Given the description of an element on the screen output the (x, y) to click on. 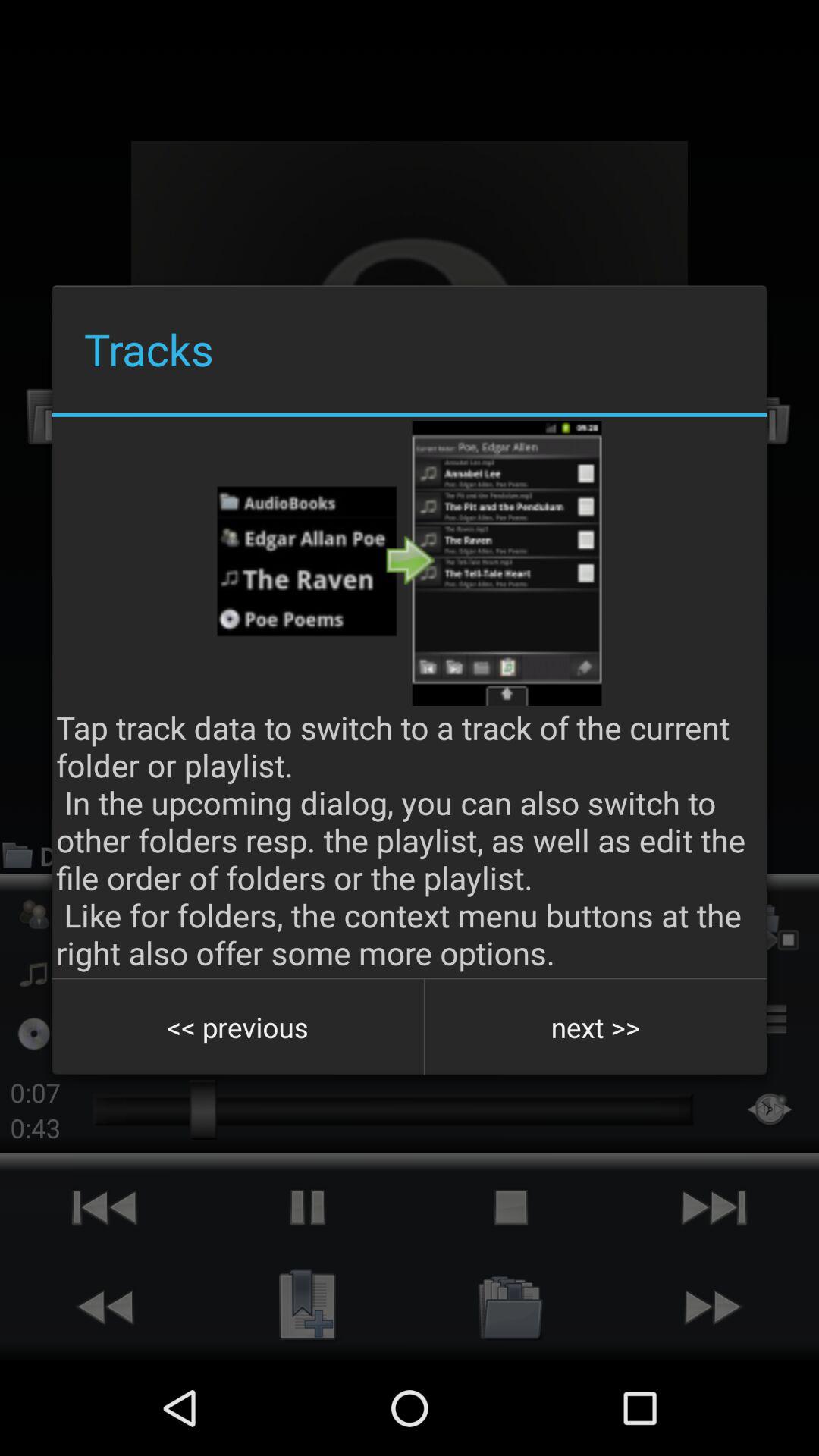
turn off the icon next to the << previous icon (595, 1026)
